Given the description of an element on the screen output the (x, y) to click on. 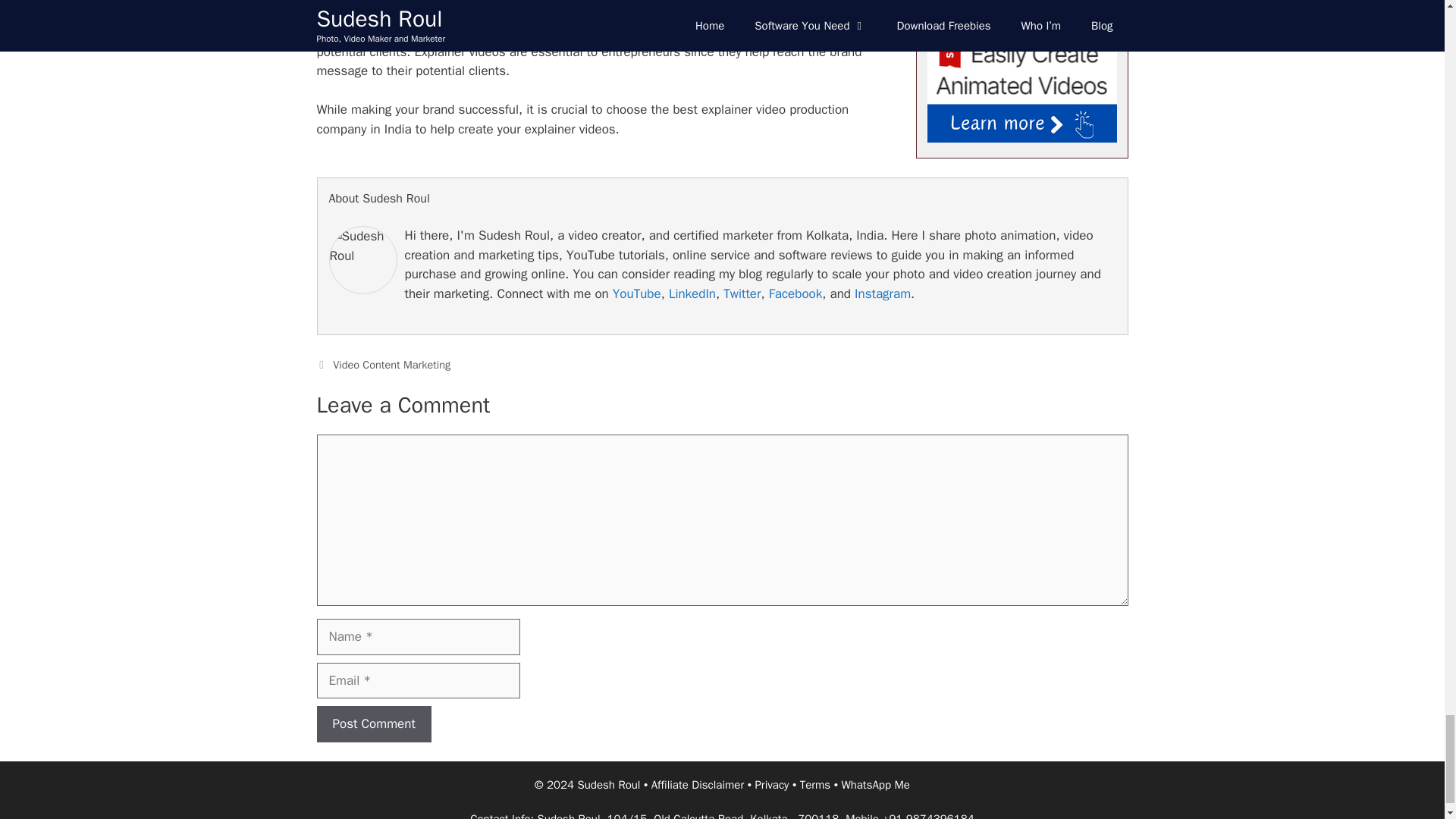
Post Comment (373, 723)
